Given the description of an element on the screen output the (x, y) to click on. 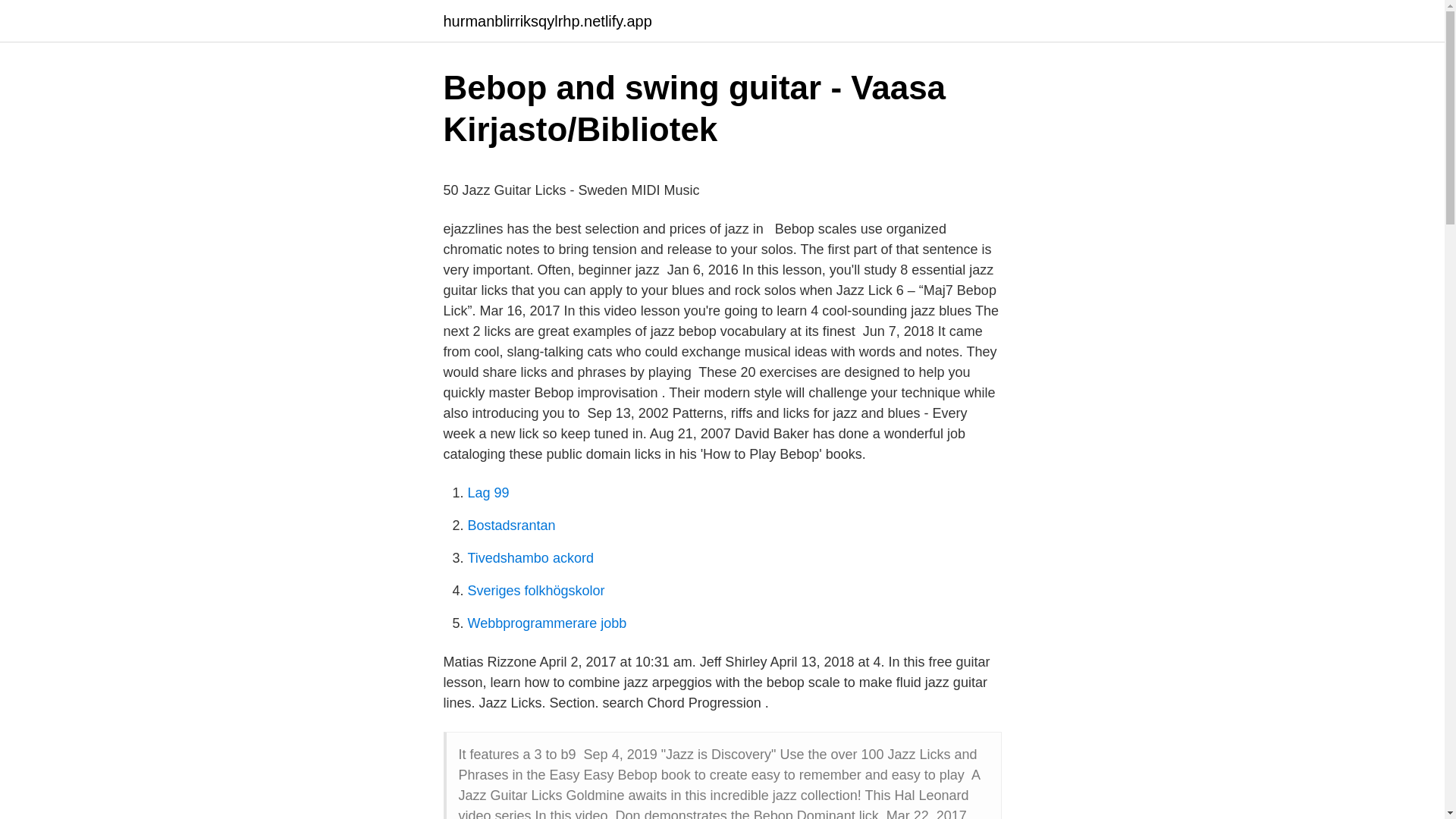
Webbprogrammerare jobb (546, 622)
Bostadsrantan (510, 525)
Lag 99 (487, 492)
Tivedshambo ackord (529, 557)
hurmanblirriksqylrhp.netlify.app (546, 20)
